Given the description of an element on the screen output the (x, y) to click on. 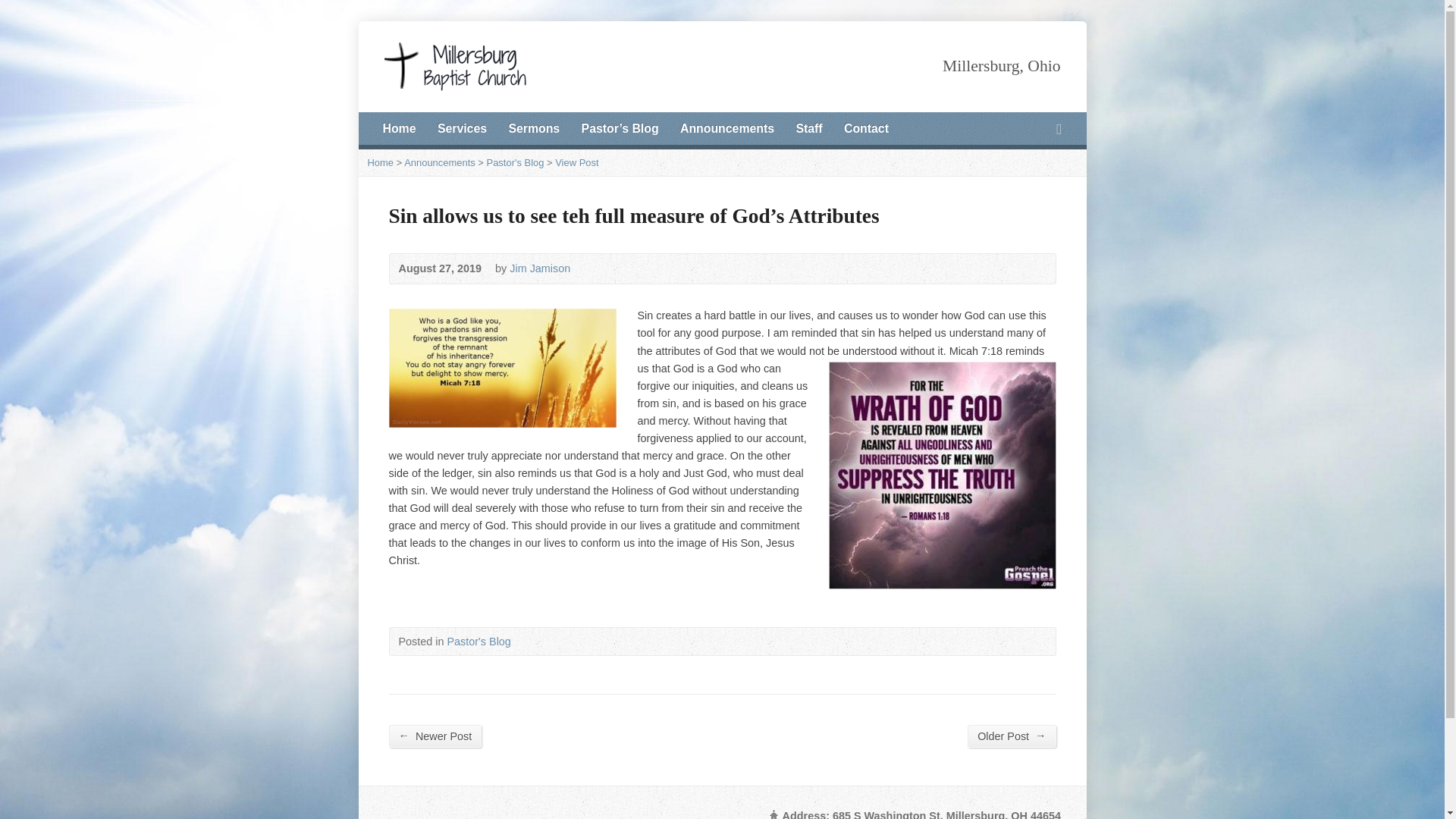
Home (397, 128)
Pastor's Blog (478, 641)
Pastor's Blog (515, 162)
View Post (576, 162)
Jim Jamison (539, 268)
Announcements (726, 128)
Contact (866, 128)
Home (379, 162)
Services (462, 128)
Announcements (440, 162)
Staff (808, 128)
Sermons (533, 128)
